Given the description of an element on the screen output the (x, y) to click on. 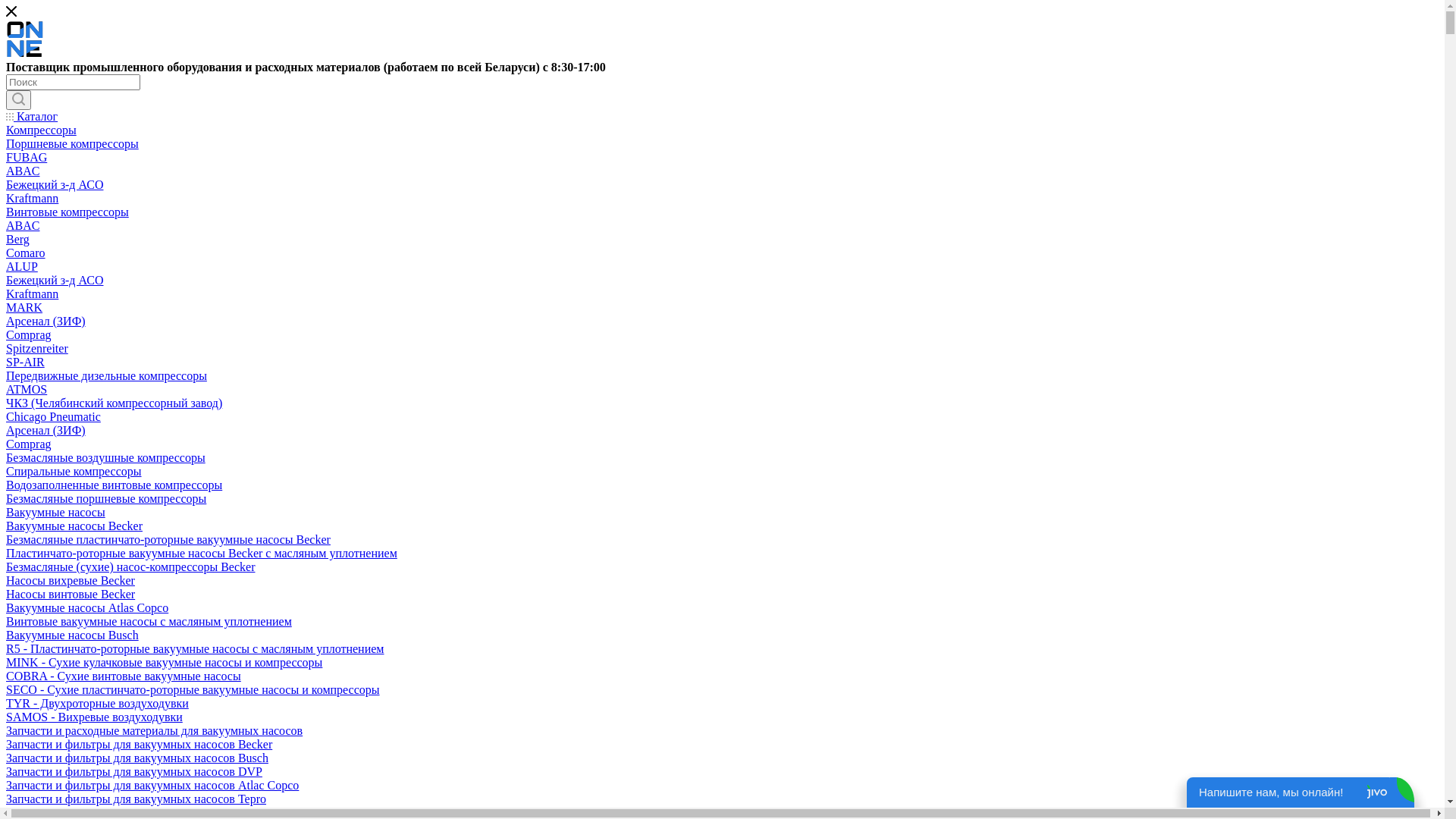
SP-AIR Element type: text (25, 361)
Chicago Pneumatic Element type: text (53, 416)
Comprag Element type: text (28, 443)
ABAC Element type: text (22, 170)
FUBAG Element type: text (26, 156)
Berg Element type: text (17, 238)
Kraftmann Element type: text (32, 197)
Comprag Element type: text (28, 334)
Kraftmann Element type: text (32, 293)
ATMOS Element type: text (26, 388)
ABAC Element type: text (22, 225)
ALUP Element type: text (21, 266)
Spitzenreiter Element type: text (37, 348)
MARK Element type: text (24, 307)
Comaro Element type: text (25, 252)
